Given the description of an element on the screen output the (x, y) to click on. 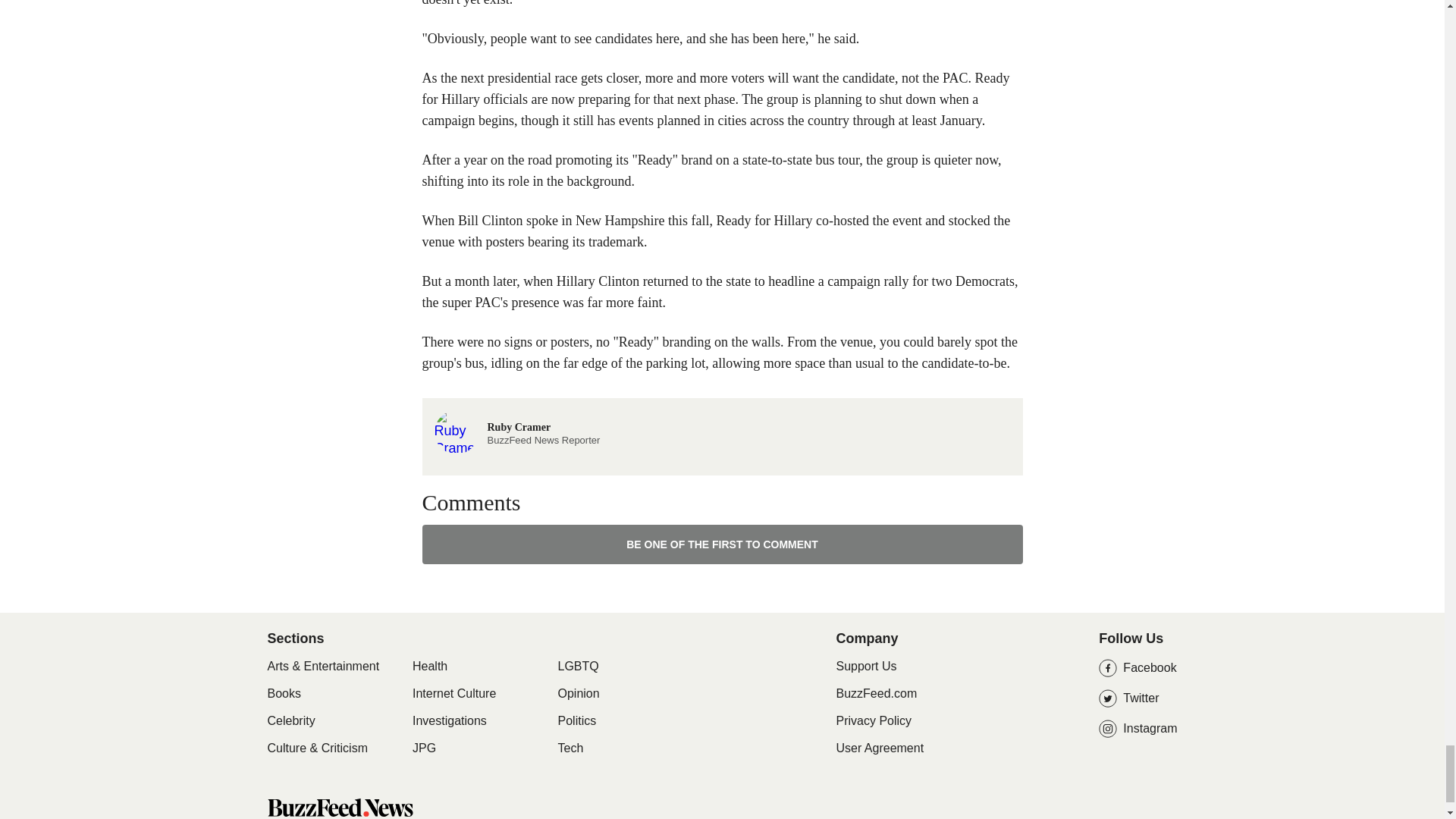
Books (282, 693)
Health (429, 666)
BuzzFeed News Home (516, 430)
Internet Culture (339, 807)
Celebrity (454, 693)
Investigations (290, 720)
BE ONE OF THE FIRST TO COMMENT (449, 720)
